Given the description of an element on the screen output the (x, y) to click on. 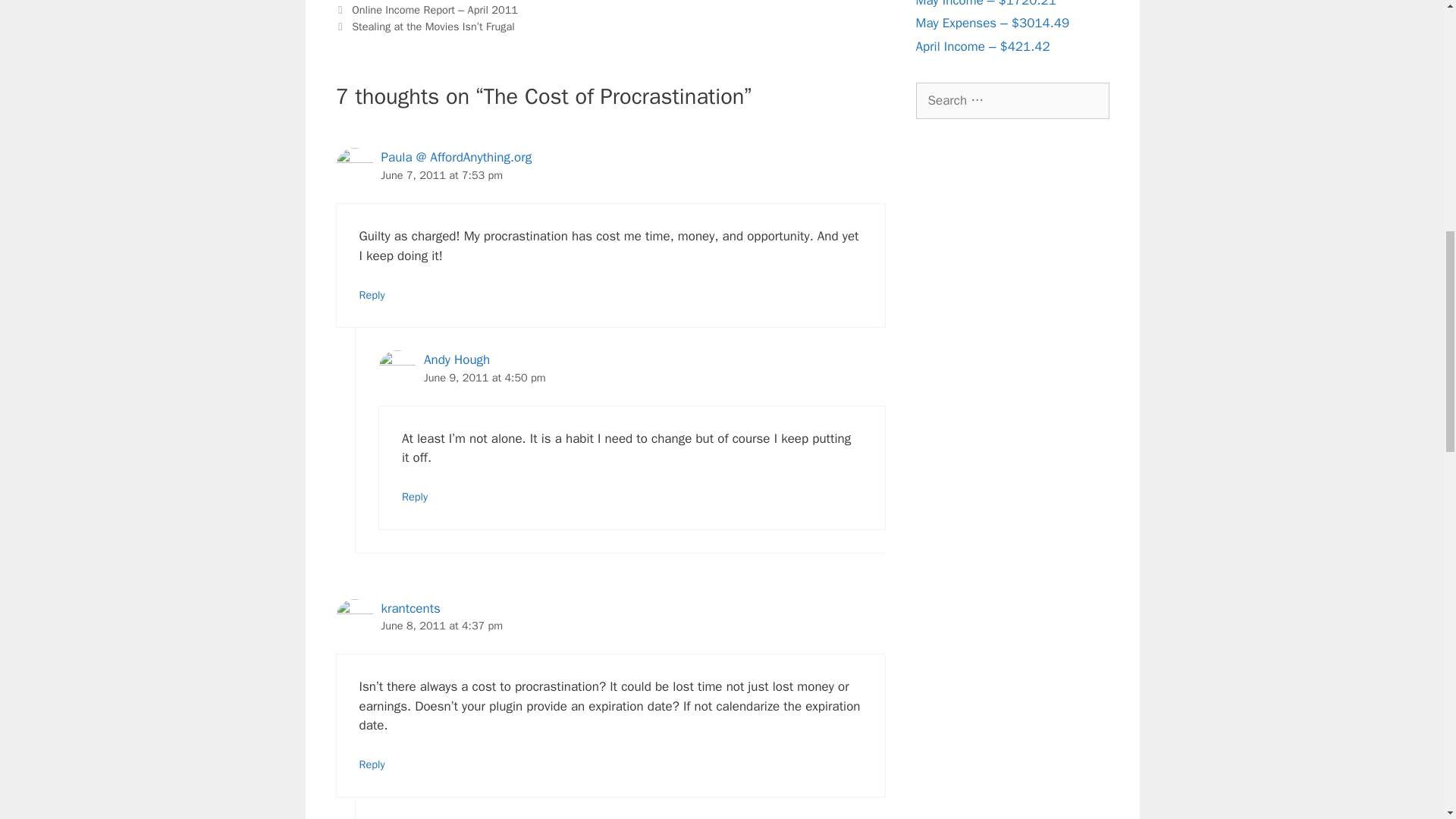
krantcents (409, 608)
Andy Hough (456, 359)
Reply (414, 496)
Financial stuff (385, 0)
June 7, 2011 at 7:53 pm (441, 174)
June 8, 2011 at 4:37 pm (441, 625)
June 9, 2011 at 4:50 pm (484, 377)
Reply (372, 764)
Reply (372, 295)
